Given the description of an element on the screen output the (x, y) to click on. 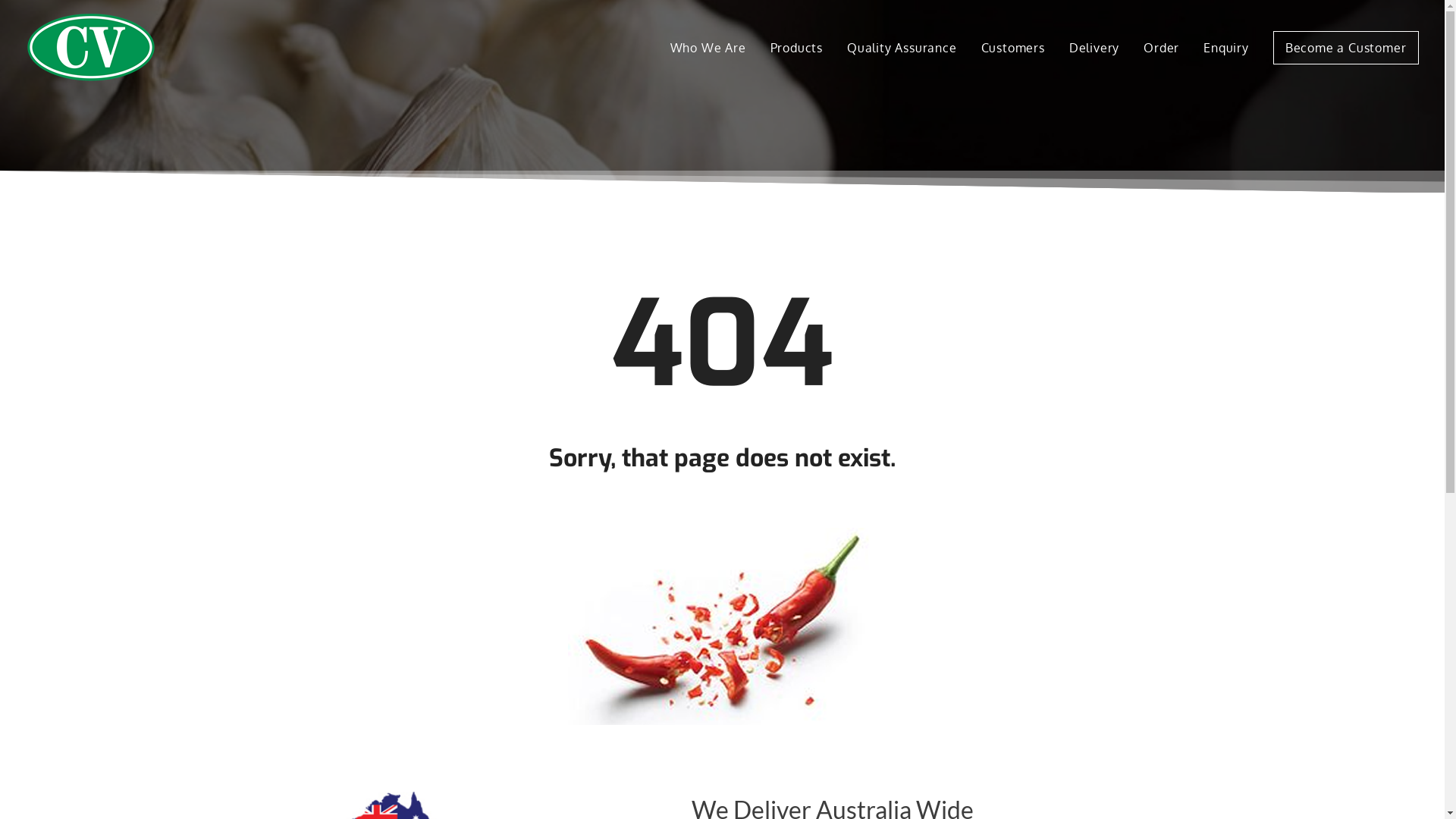
Who We Are Element type: text (713, 47)
Quality Assurance Element type: text (901, 47)
Customers Element type: text (1012, 47)
Become a Customer Element type: text (1345, 46)
Order Element type: text (1160, 47)
Delivery Element type: text (1093, 47)
Products Element type: text (796, 47)
Enquiry Element type: text (1225, 47)
